Given the description of an element on the screen output the (x, y) to click on. 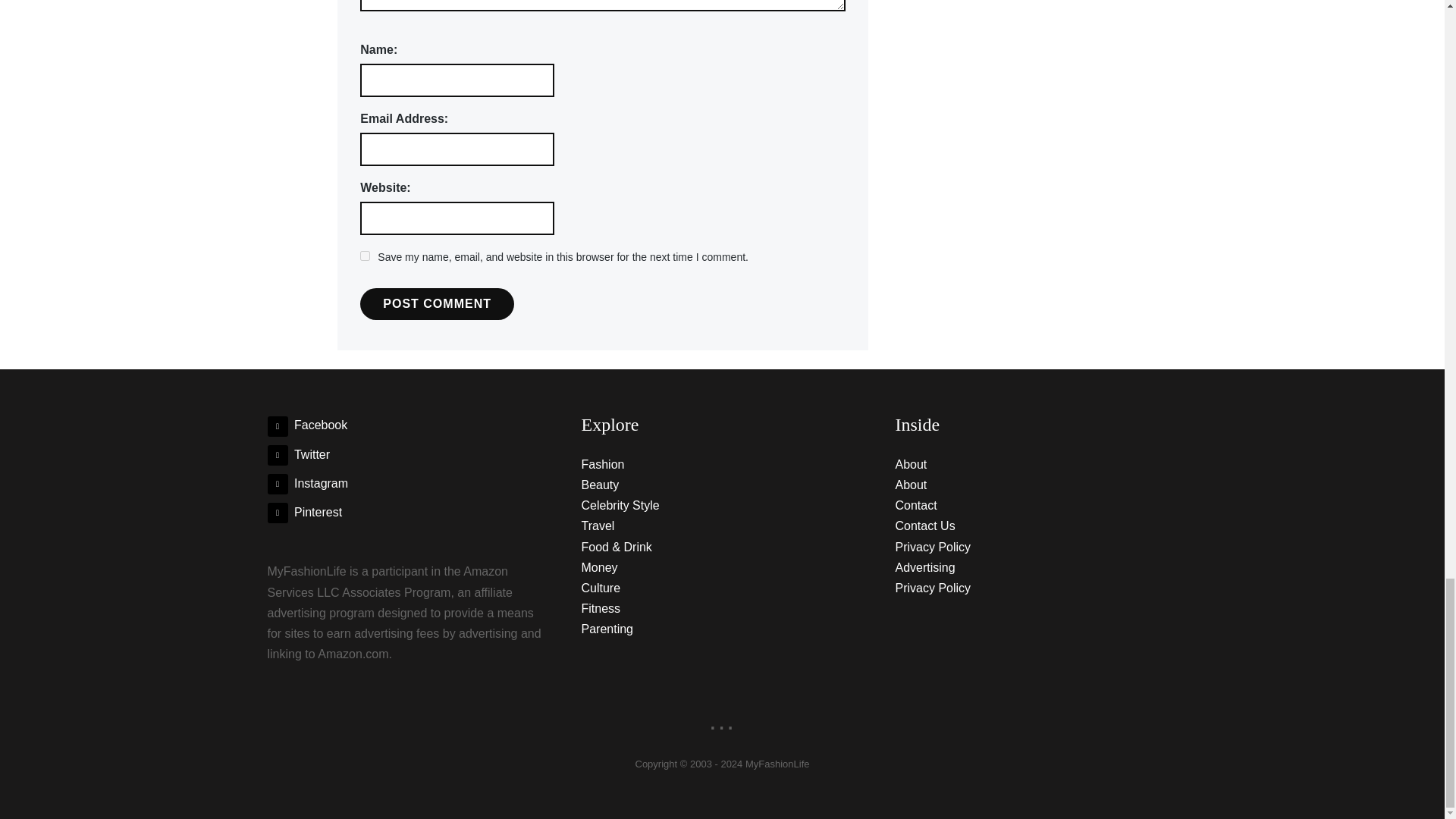
Post Comment (436, 304)
yes (364, 255)
Instagram (306, 482)
Pinterest (304, 512)
Facebook (306, 424)
Twitter (298, 454)
